Given the description of an element on the screen output the (x, y) to click on. 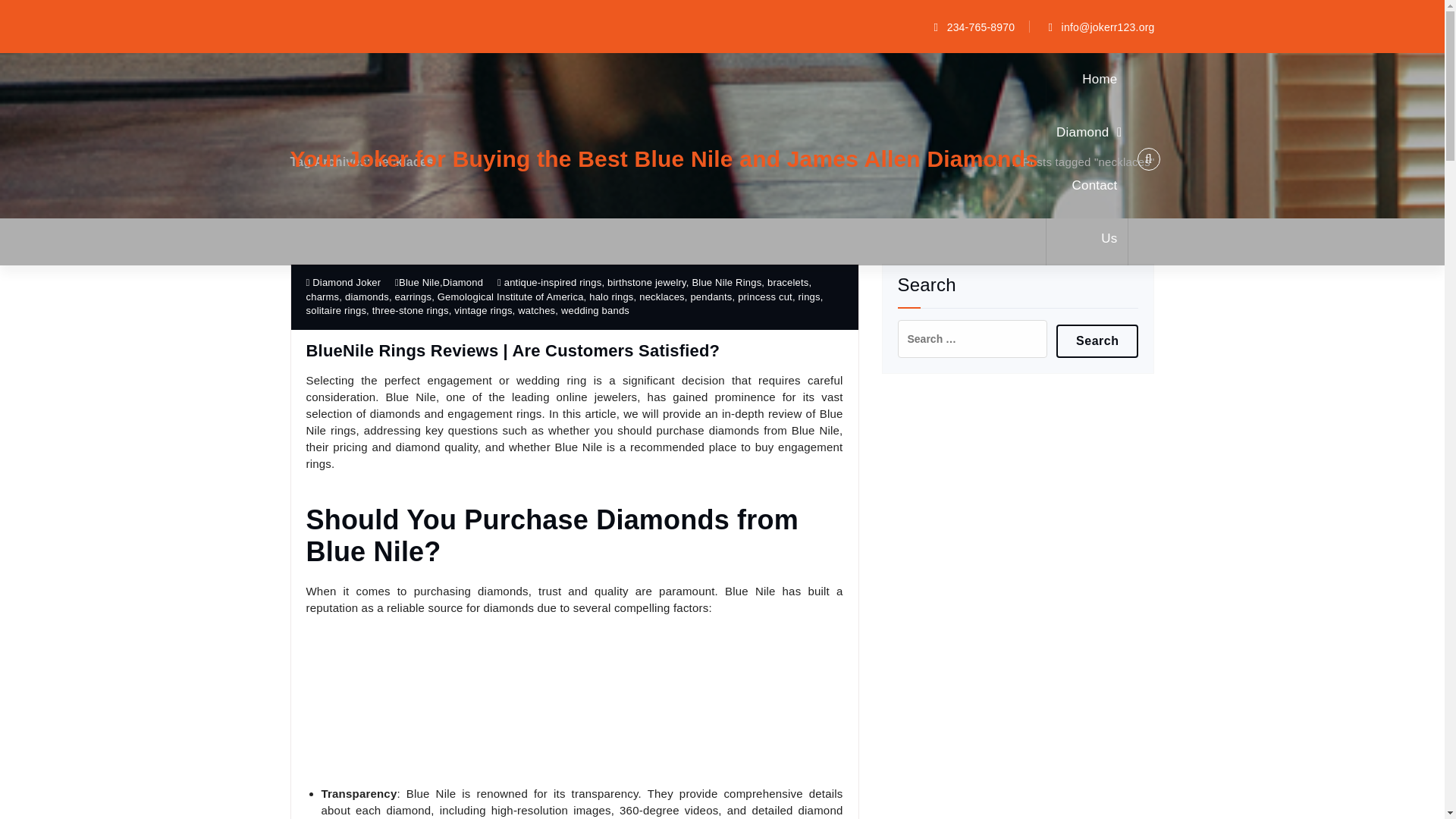
Contact Us (1085, 211)
bracelets (788, 282)
Diamond (1085, 132)
Diamond (462, 282)
birthstone jewelry (646, 282)
charms (322, 296)
Gemological Institute of America (510, 296)
Blue Nile Rings (726, 282)
YouTube video player (574, 705)
Home (987, 161)
234-765-8970 (972, 26)
antique-inspired rings (552, 282)
Search (1097, 340)
Home (1098, 79)
